Given the description of an element on the screen output the (x, y) to click on. 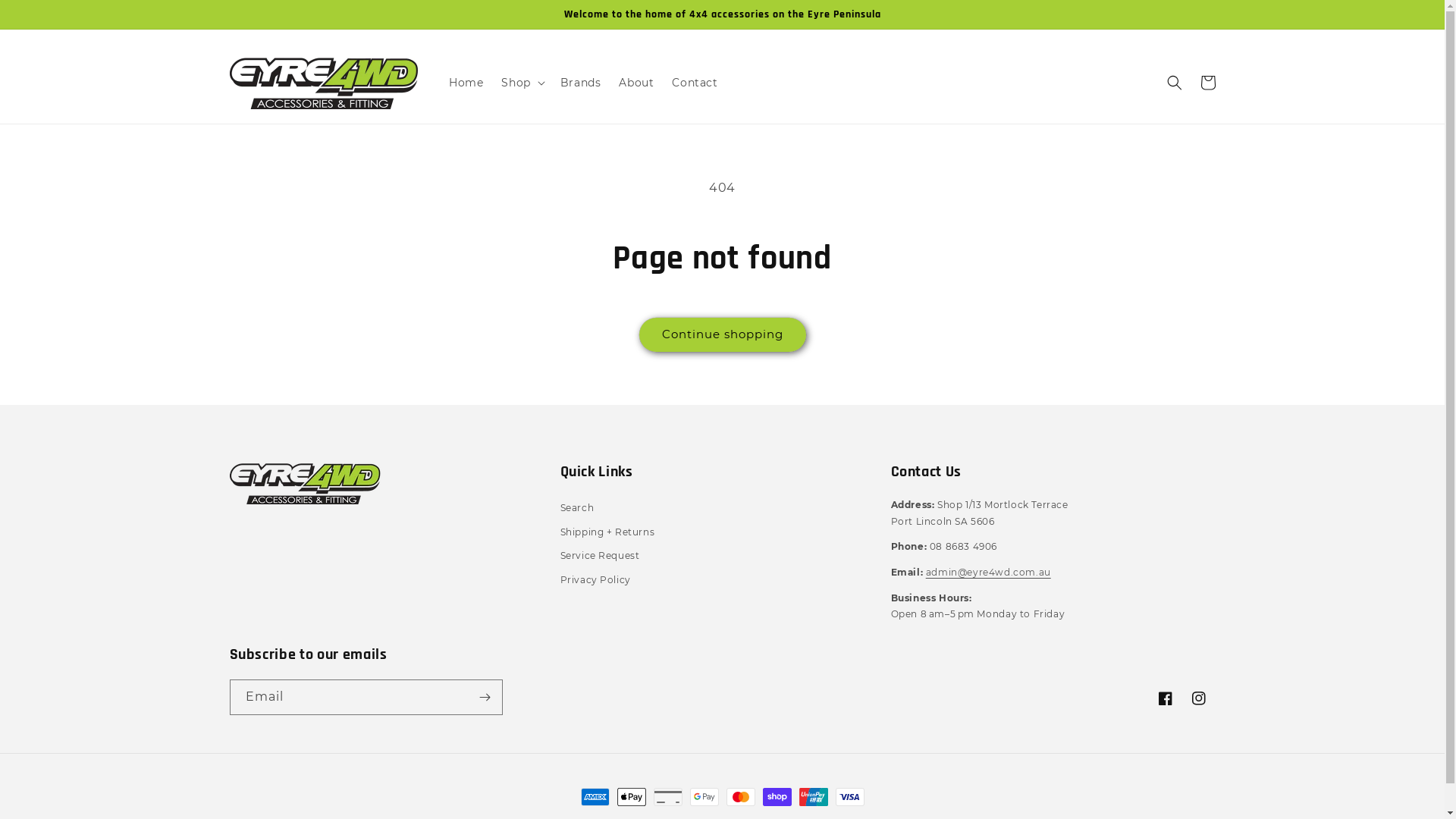
Cart Element type: text (1206, 82)
admin@eyre4wd.com.au Element type: text (988, 571)
Search Element type: text (576, 509)
Facebook Element type: text (1164, 698)
Shipping + Returns Element type: text (606, 532)
About Element type: text (635, 82)
Contact Element type: text (694, 82)
Instagram Element type: text (1197, 698)
Home Element type: text (465, 82)
Brands Element type: text (580, 82)
Privacy Policy Element type: text (594, 579)
Service Request Element type: text (599, 555)
Continue shopping Element type: text (721, 334)
